Given the description of an element on the screen output the (x, y) to click on. 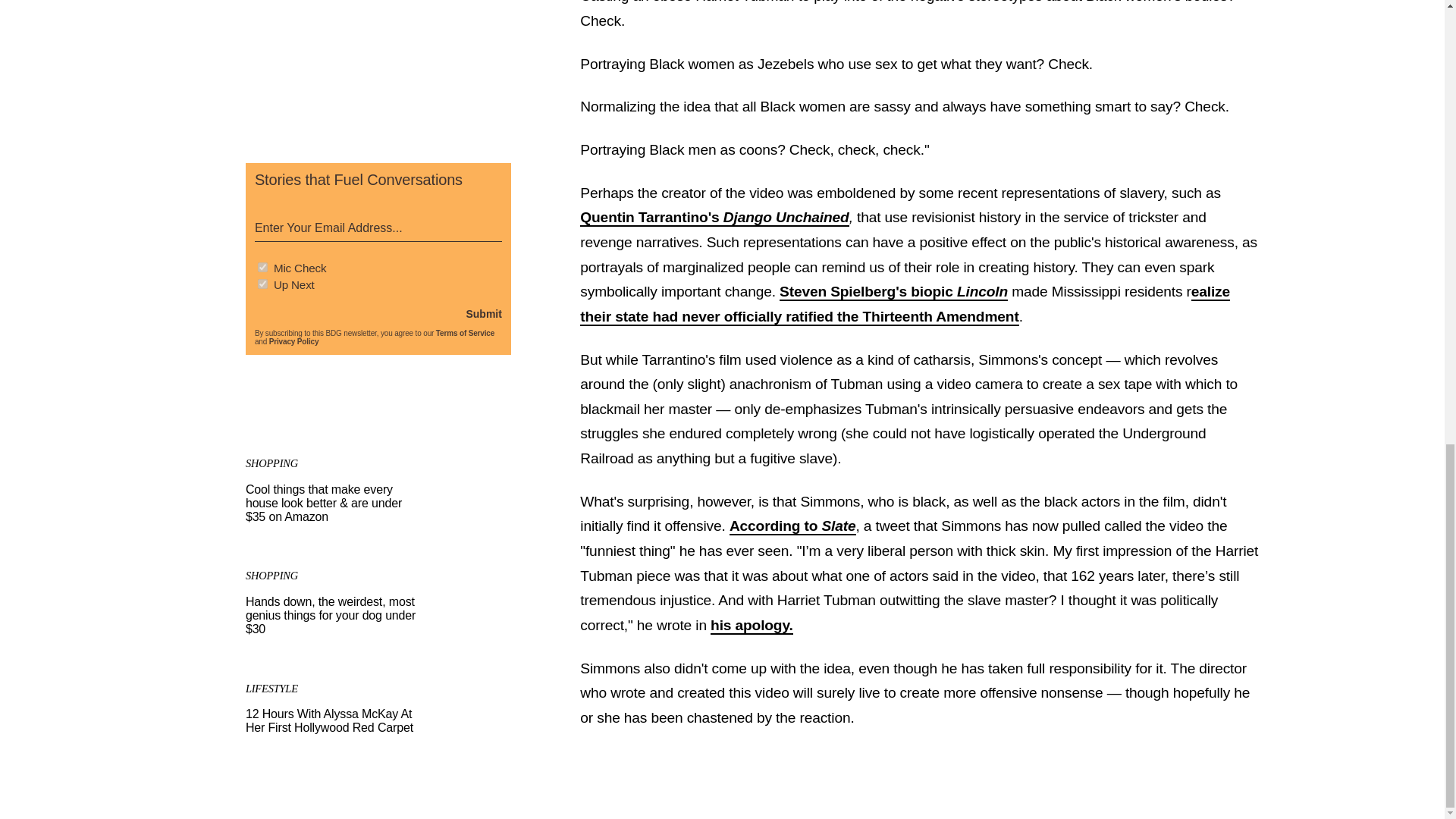
Lincoln (981, 292)
his apology. (751, 625)
Slate (838, 526)
Steven Spielberg's biopic (867, 292)
According to (775, 526)
Django Unchained (785, 217)
Quentin Tarrantino's (650, 217)
Privacy Policy (293, 341)
Submit (482, 313)
